Given the description of an element on the screen output the (x, y) to click on. 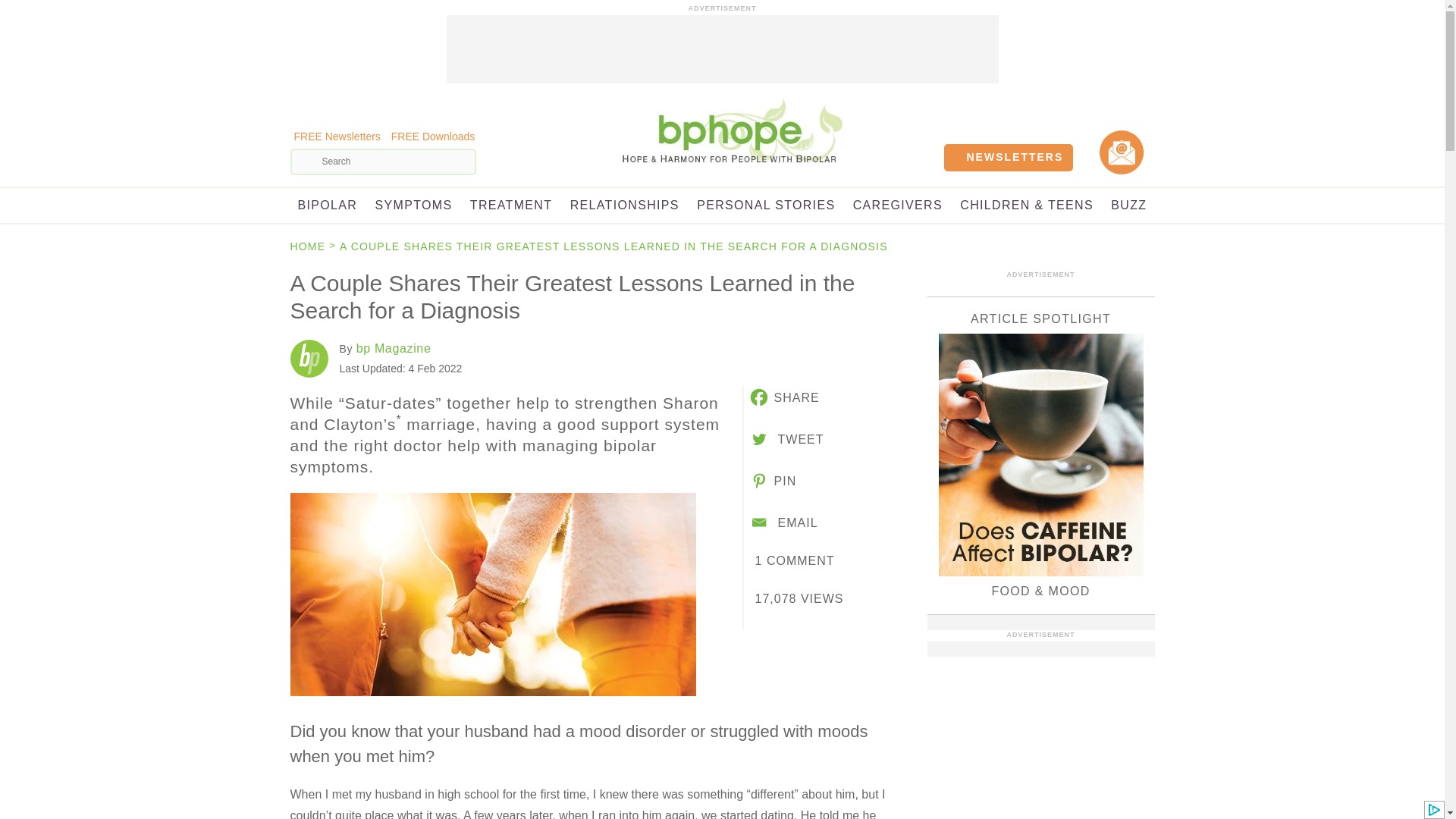
Twitter (786, 438)
RELATIONSHIPS (624, 205)
Facebook (783, 396)
BIPOLAR (326, 205)
TREATMENT (511, 205)
SYMPTOMS (413, 205)
Email (783, 522)
Pinterest (772, 480)
